Given the description of an element on the screen output the (x, y) to click on. 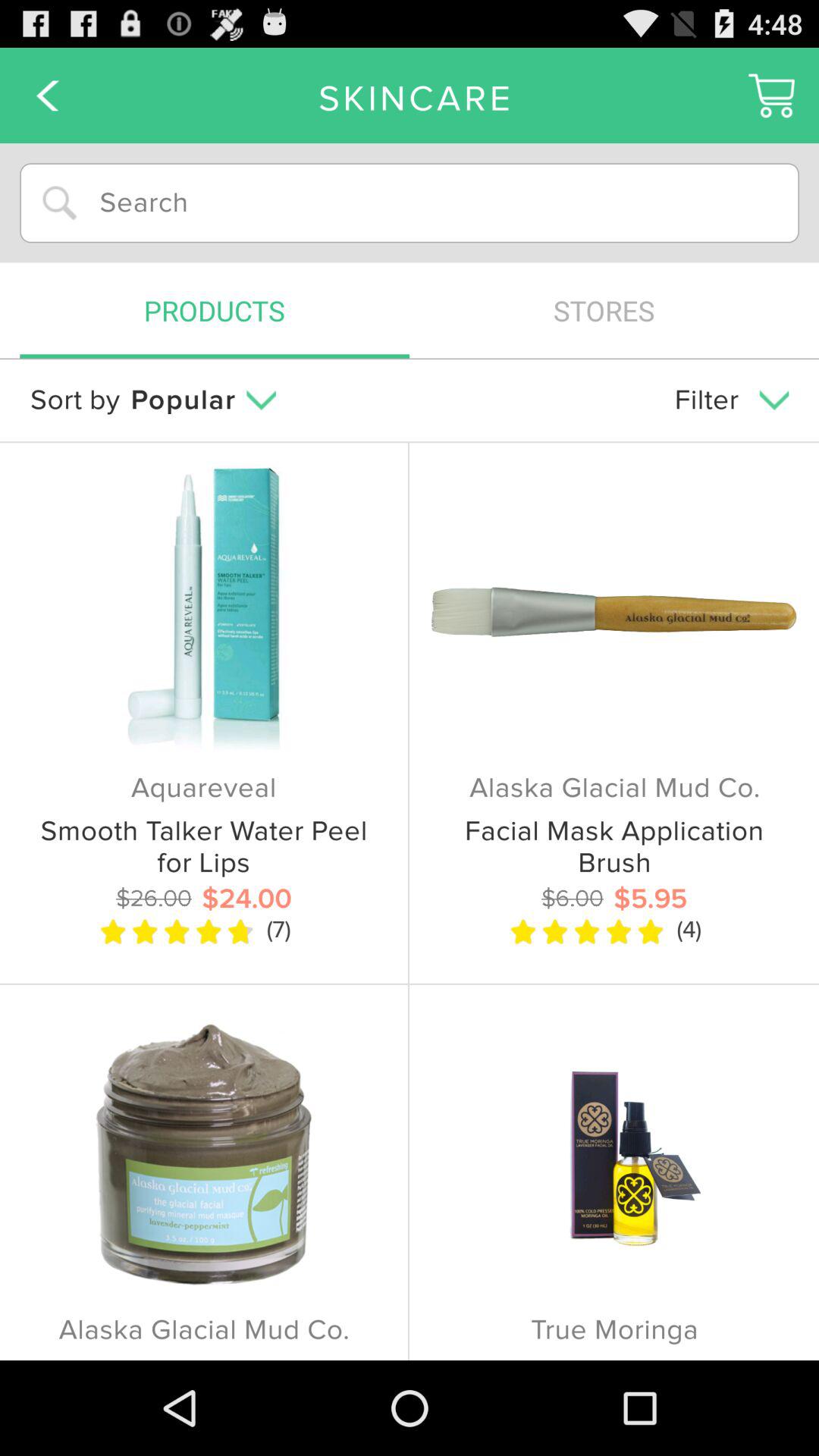
select filter icon (731, 400)
